Given the description of an element on the screen output the (x, y) to click on. 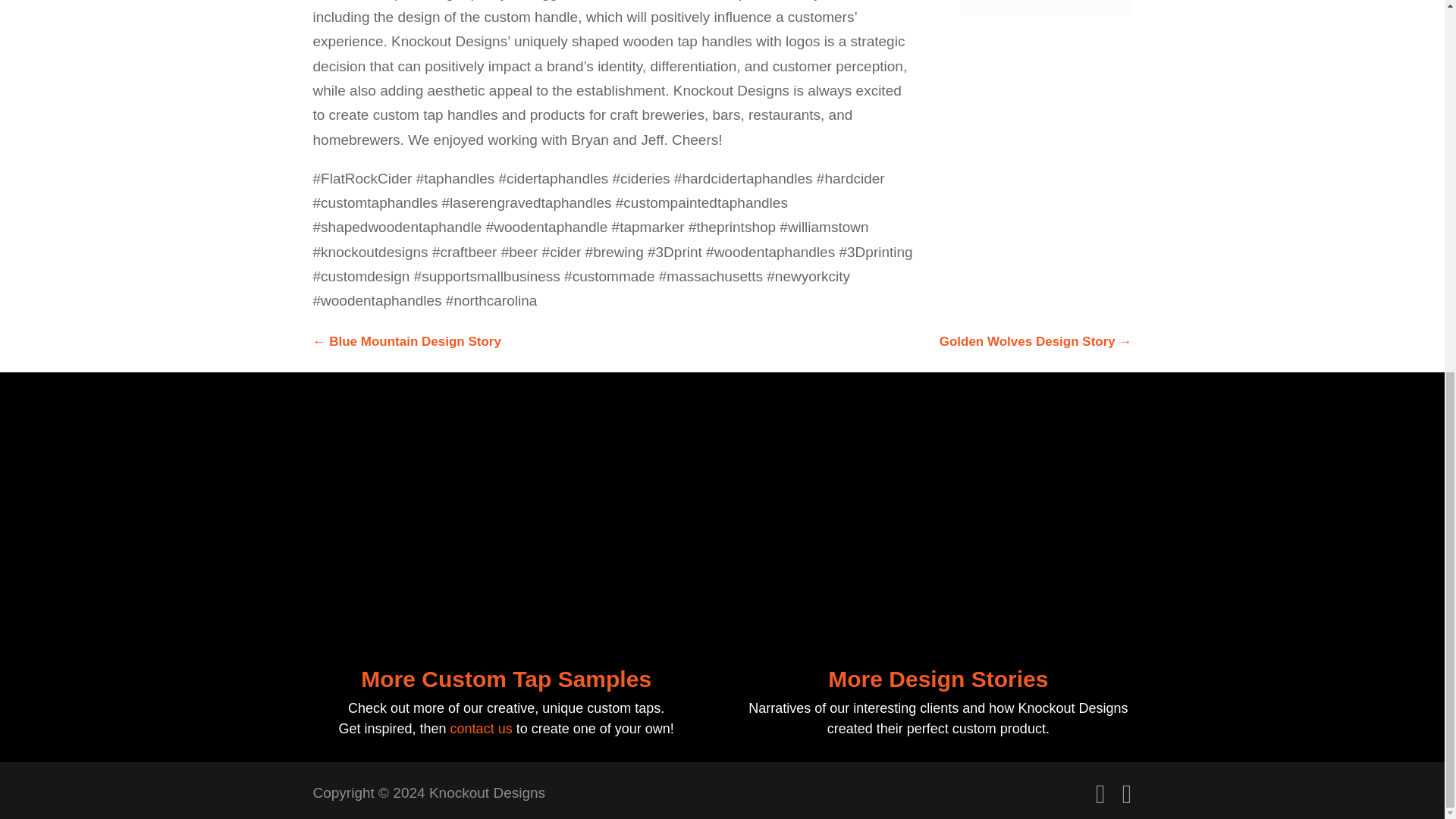
More Custom Tap Samples (505, 678)
contact us (480, 728)
More Design Stories (938, 678)
